Given the description of an element on the screen output the (x, y) to click on. 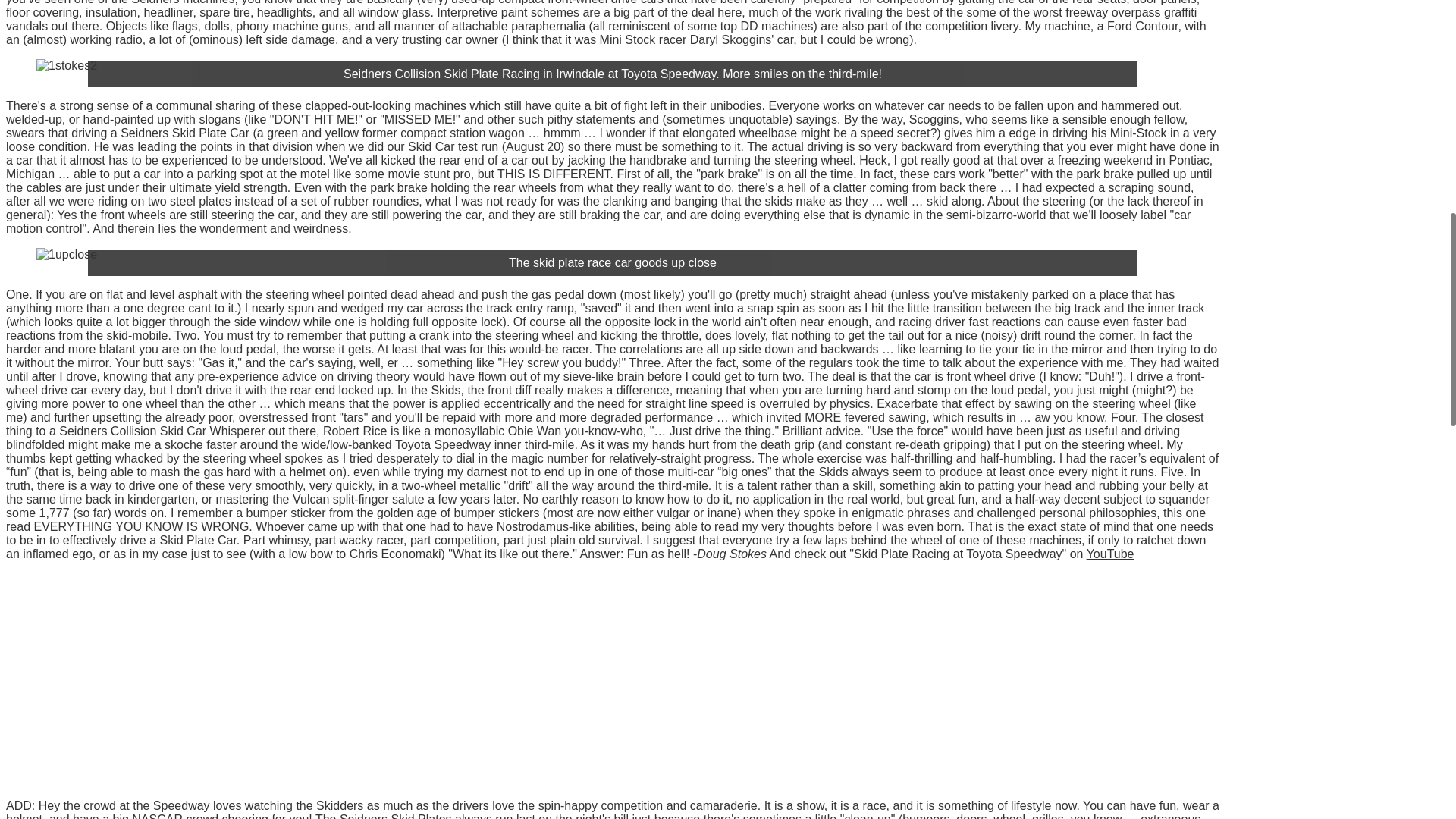
YouTube (1110, 553)
